Given the description of an element on the screen output the (x, y) to click on. 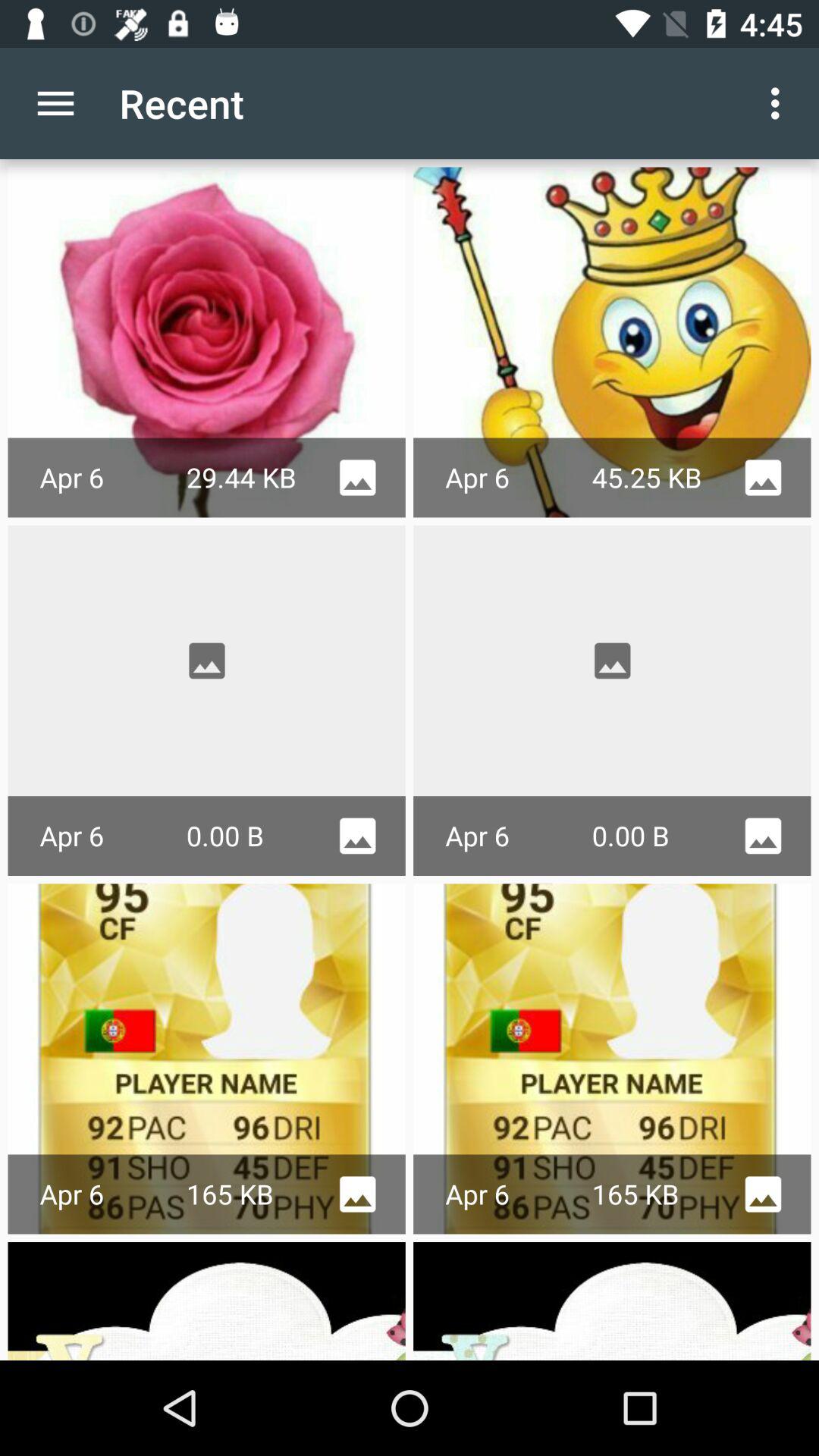
turn off the item to the right of the recent app (779, 103)
